Given the description of an element on the screen output the (x, y) to click on. 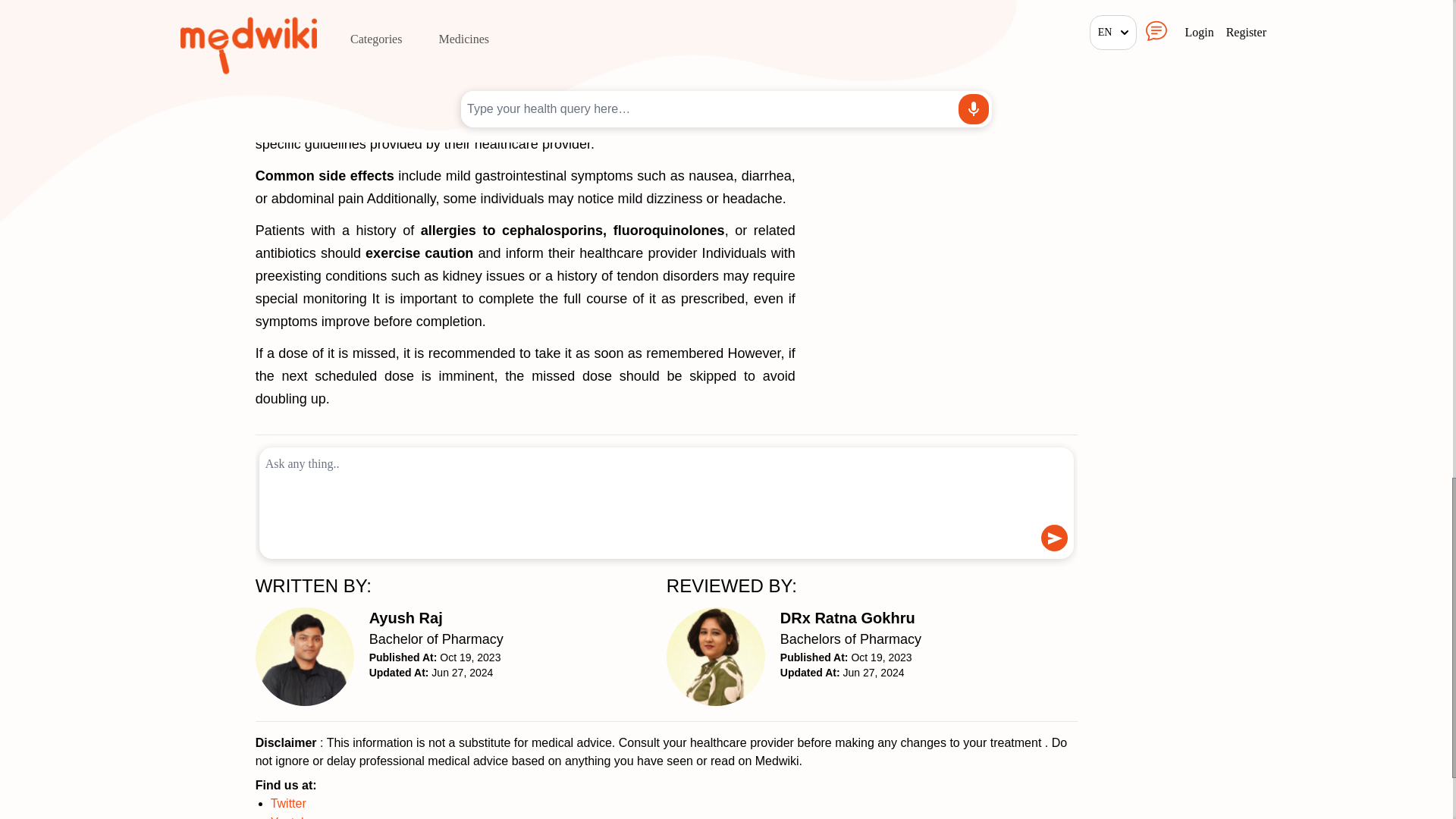
Twitter (850, 628)
